Given the description of an element on the screen output the (x, y) to click on. 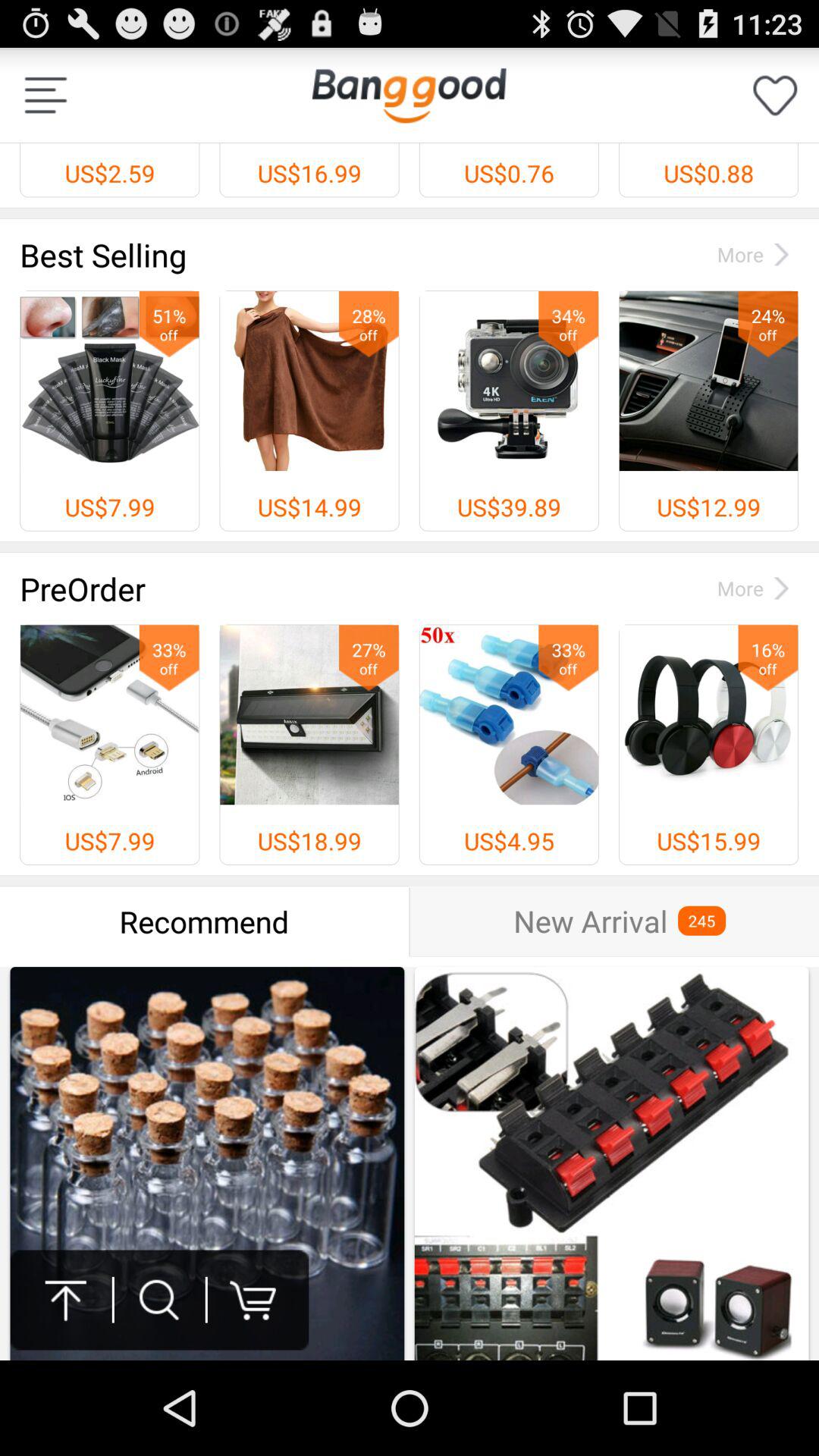
go to home page (409, 95)
